Given the description of an element on the screen output the (x, y) to click on. 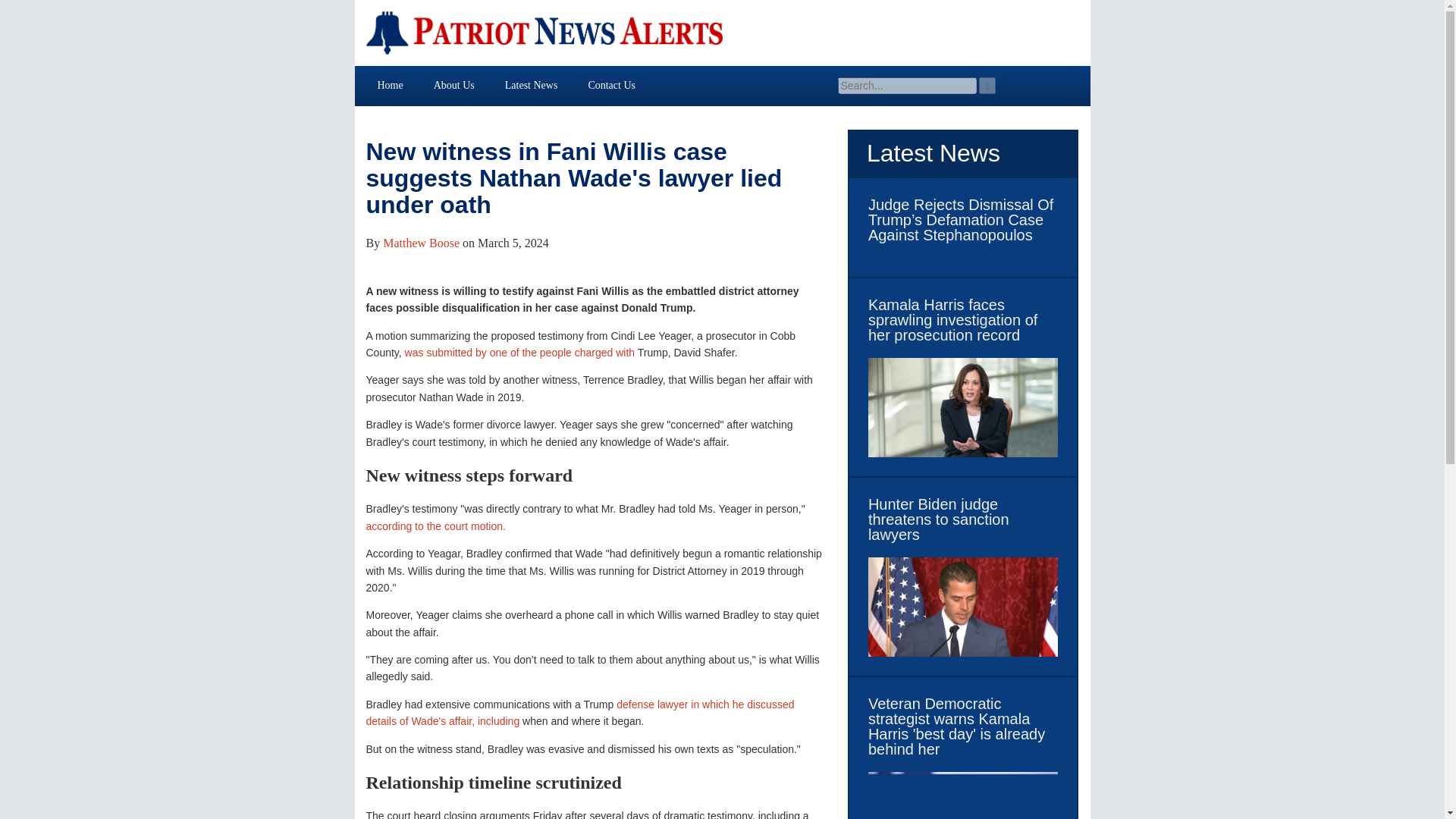
Search for: (906, 85)
Matthew Boose (421, 242)
About Us (454, 85)
according to the court motion. (435, 526)
was submitted by one of the people charged with (519, 352)
Latest News (531, 85)
Home (390, 85)
Hunter Biden judge threatens to sanction lawyers (962, 519)
Contact Us (611, 85)
